Given the description of an element on the screen output the (x, y) to click on. 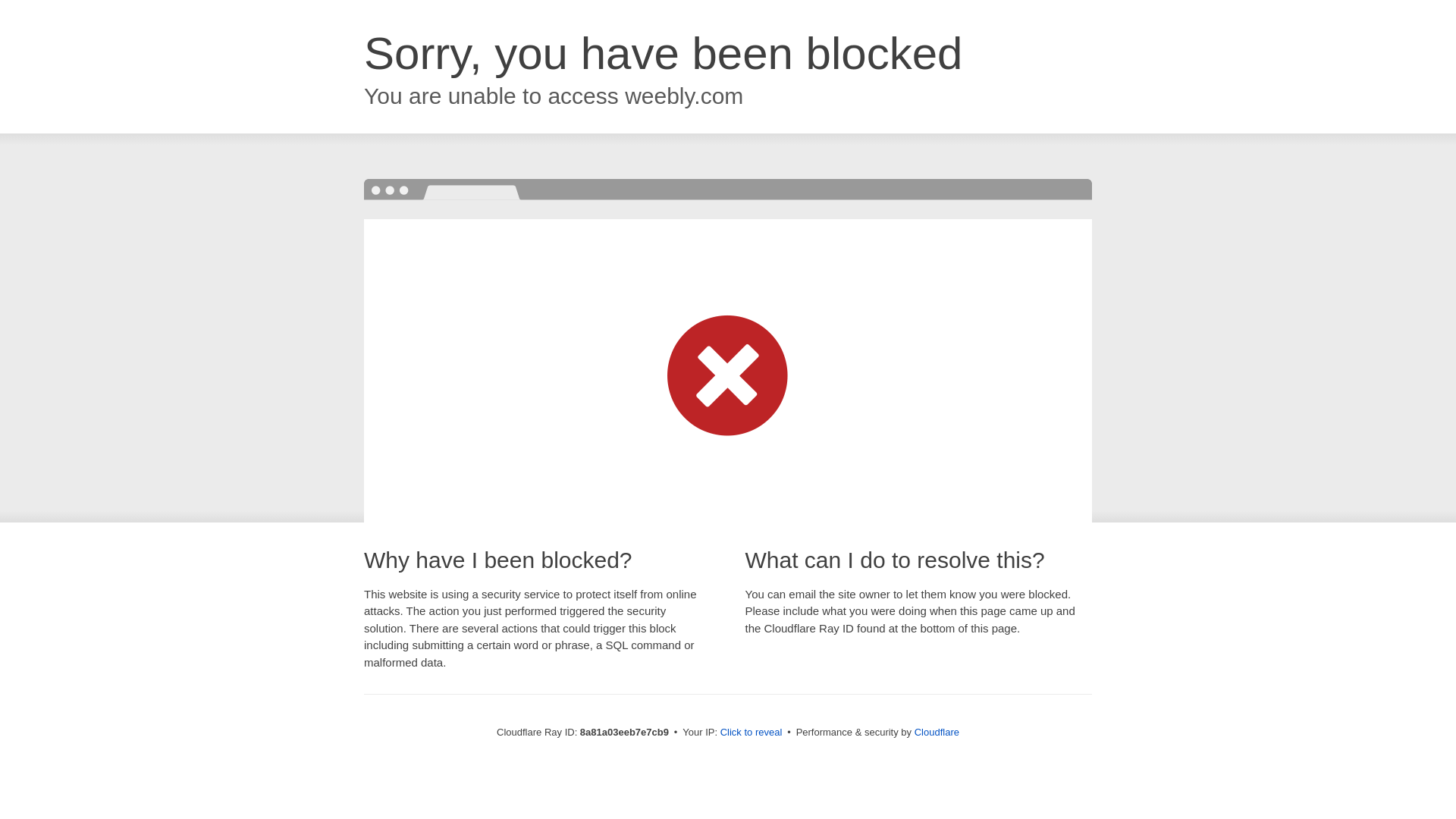
Cloudflare (936, 731)
Click to reveal (751, 732)
